Given the description of an element on the screen output the (x, y) to click on. 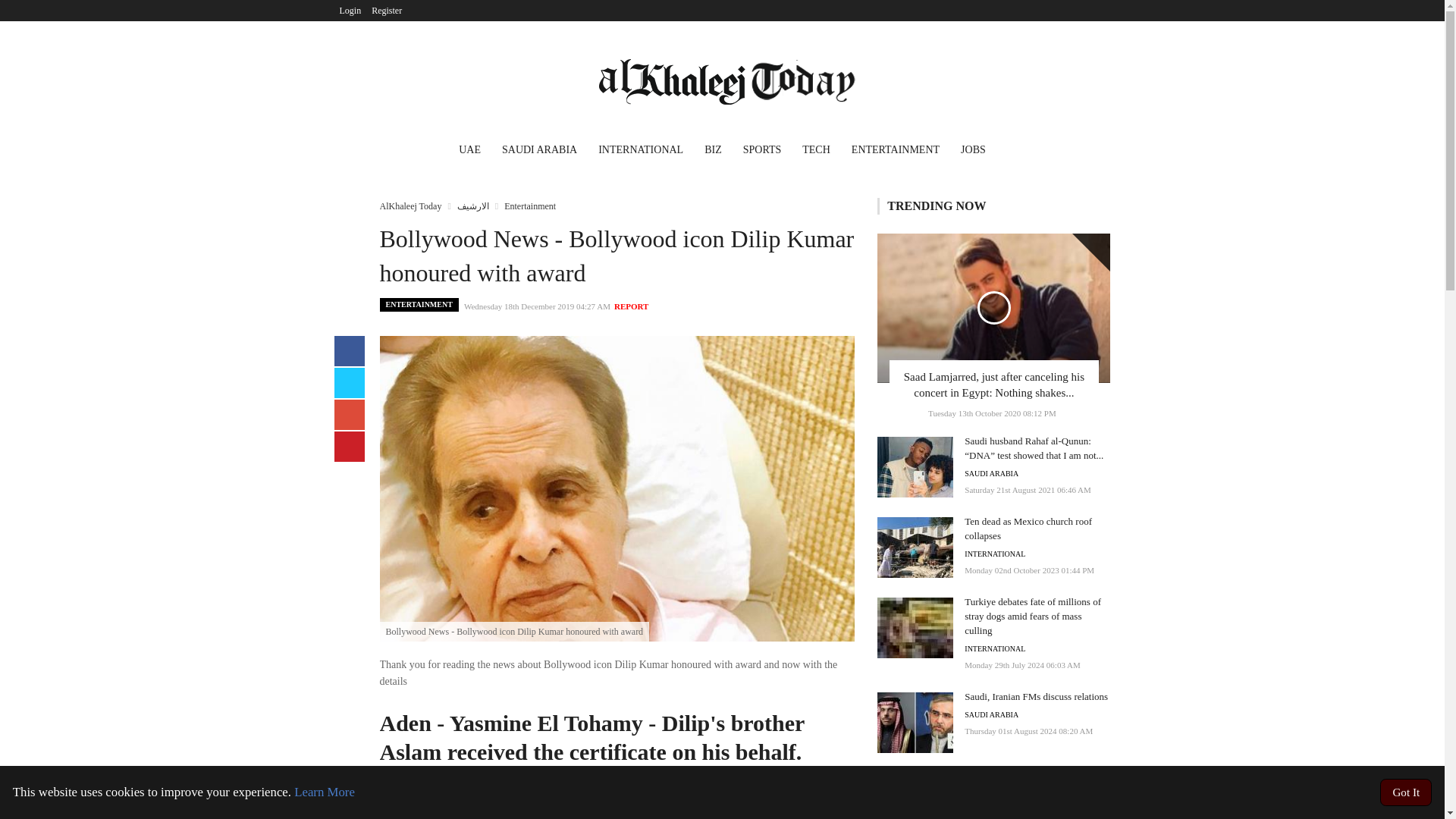
ENTERTAINMENT (418, 305)
AlKhaleej Today (409, 205)
TECH (816, 151)
UAE (470, 151)
Login (349, 10)
SPORTS (762, 151)
Ten dead as Mexico church roof collapses (1027, 528)
Got It (1405, 791)
SAUDI ARABIA (540, 151)
Register (386, 10)
Learn More (324, 791)
INTERNATIONAL (641, 151)
INTERNATIONAL (994, 648)
